Given the description of an element on the screen output the (x, y) to click on. 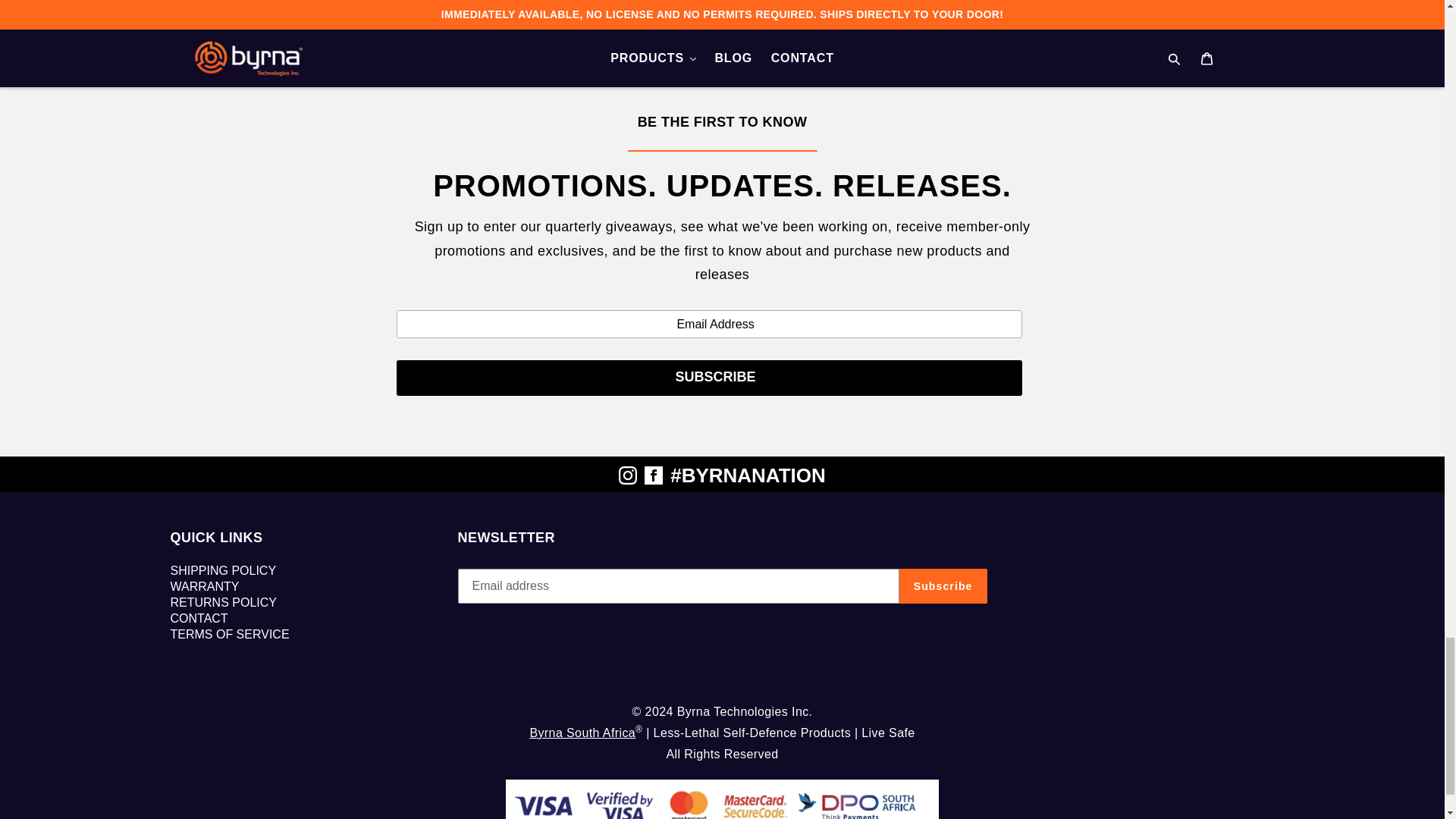
Subscribe (709, 377)
Email Address (709, 324)
